Given the description of an element on the screen output the (x, y) to click on. 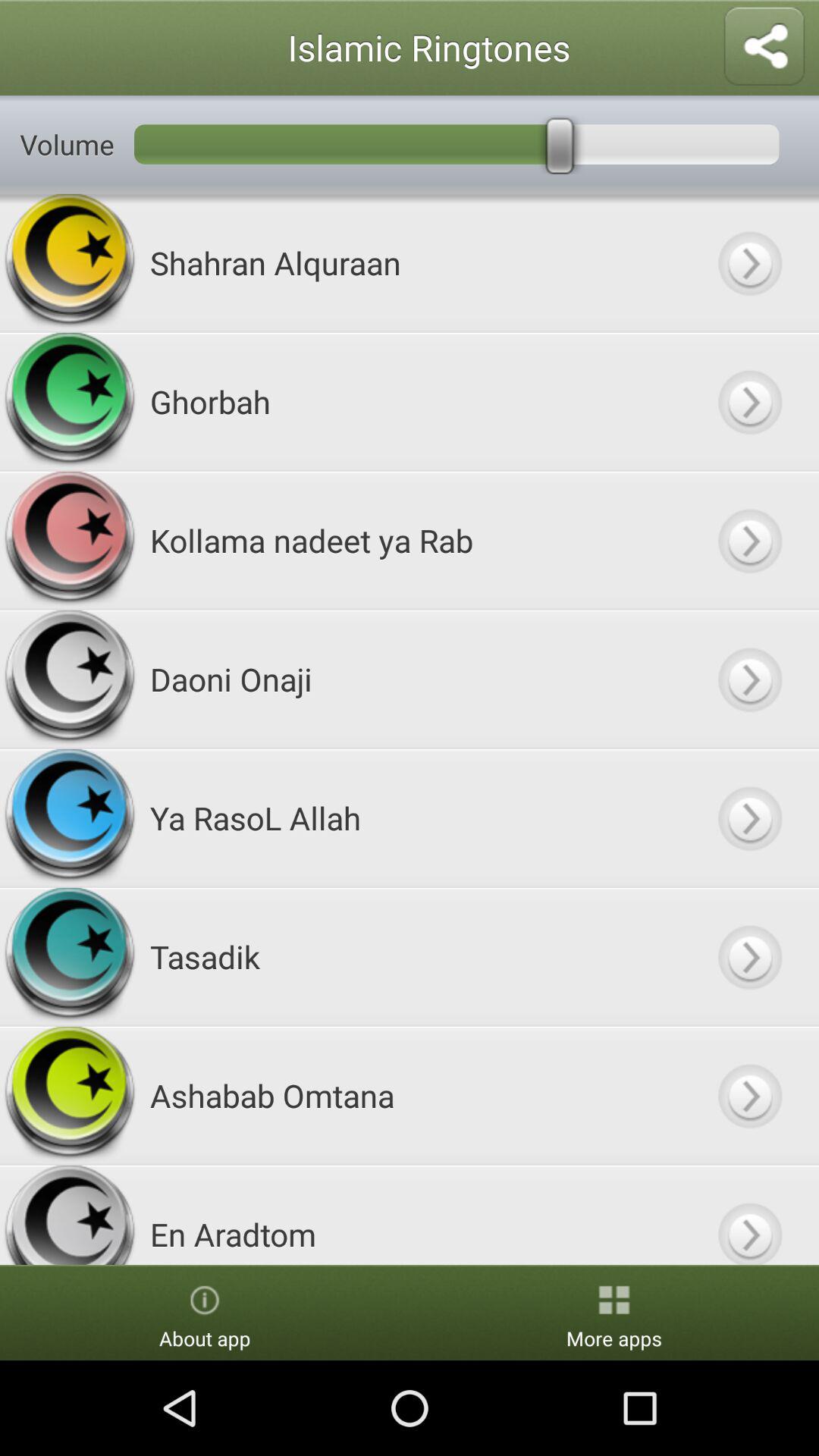
select button (749, 956)
